Given the description of an element on the screen output the (x, y) to click on. 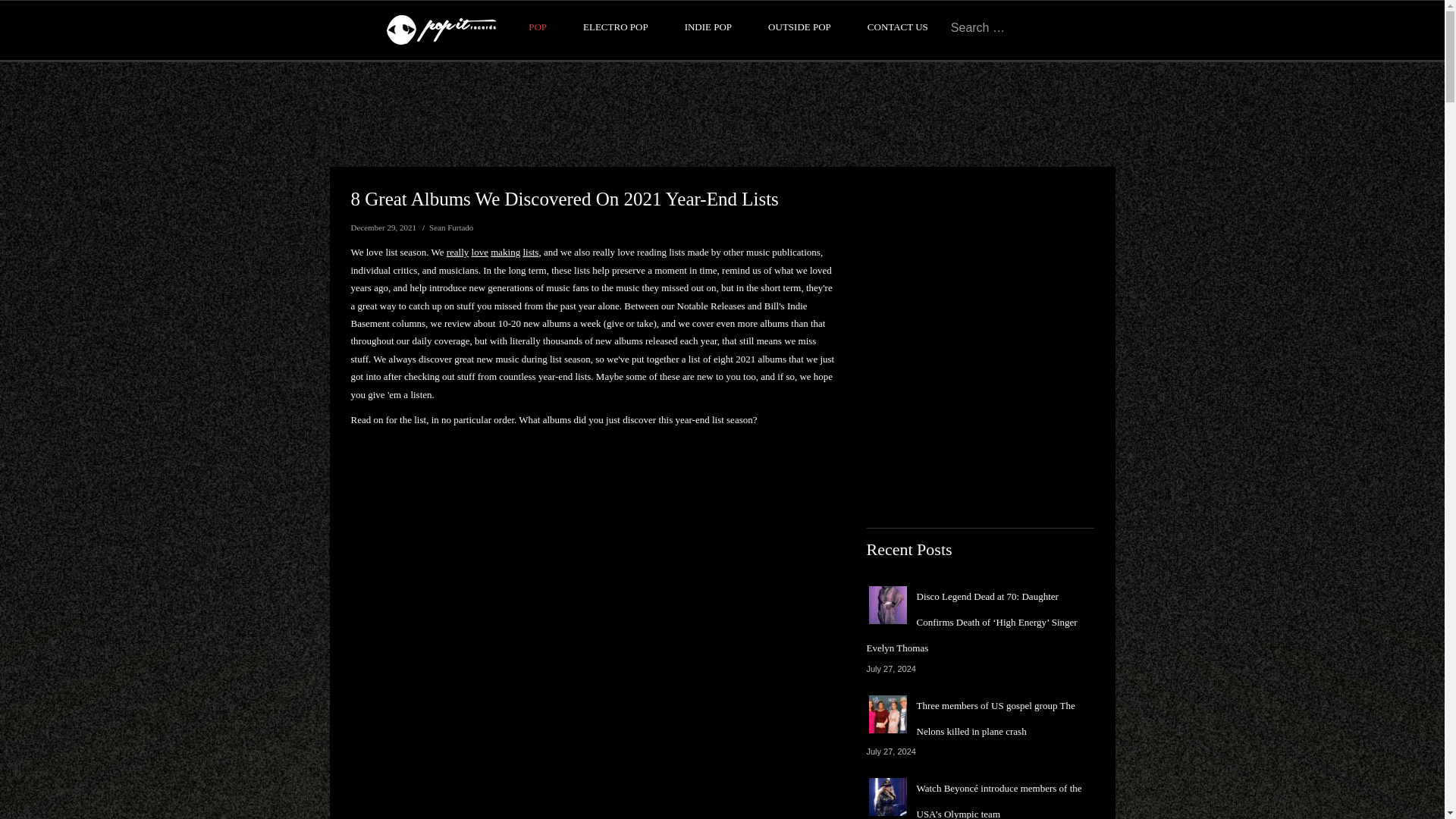
Advertisement (721, 114)
CONTACT US (897, 26)
POP (537, 26)
ELECTRO POP (615, 26)
Sean Furtado (451, 226)
Search for: (997, 27)
OUTSIDE POP (798, 26)
December 29, 2021 (382, 226)
INDIE POP (707, 26)
